Given the description of an element on the screen output the (x, y) to click on. 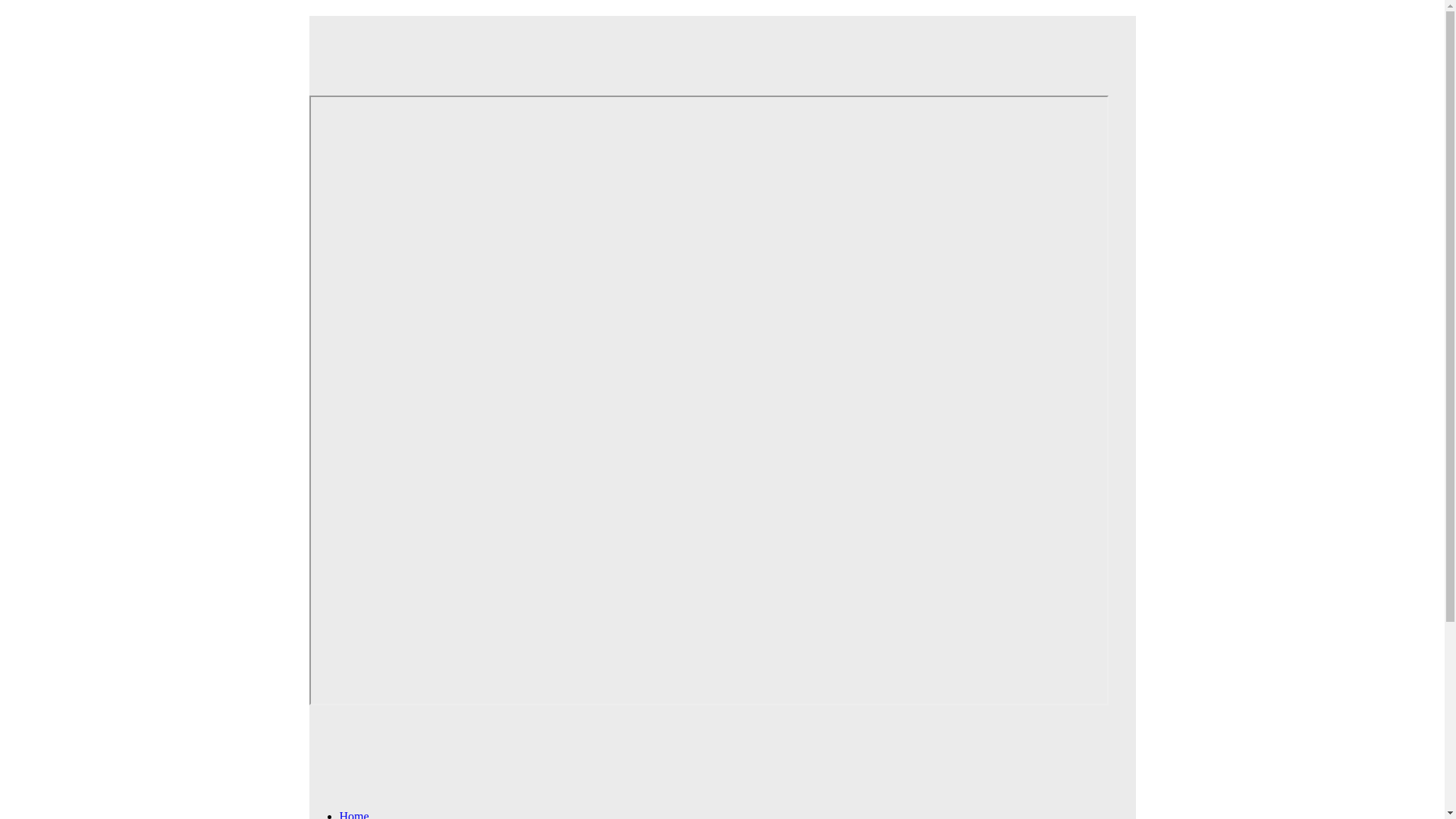
Web Hosting from Just Host Element type: text (707, 44)
